Given the description of an element on the screen output the (x, y) to click on. 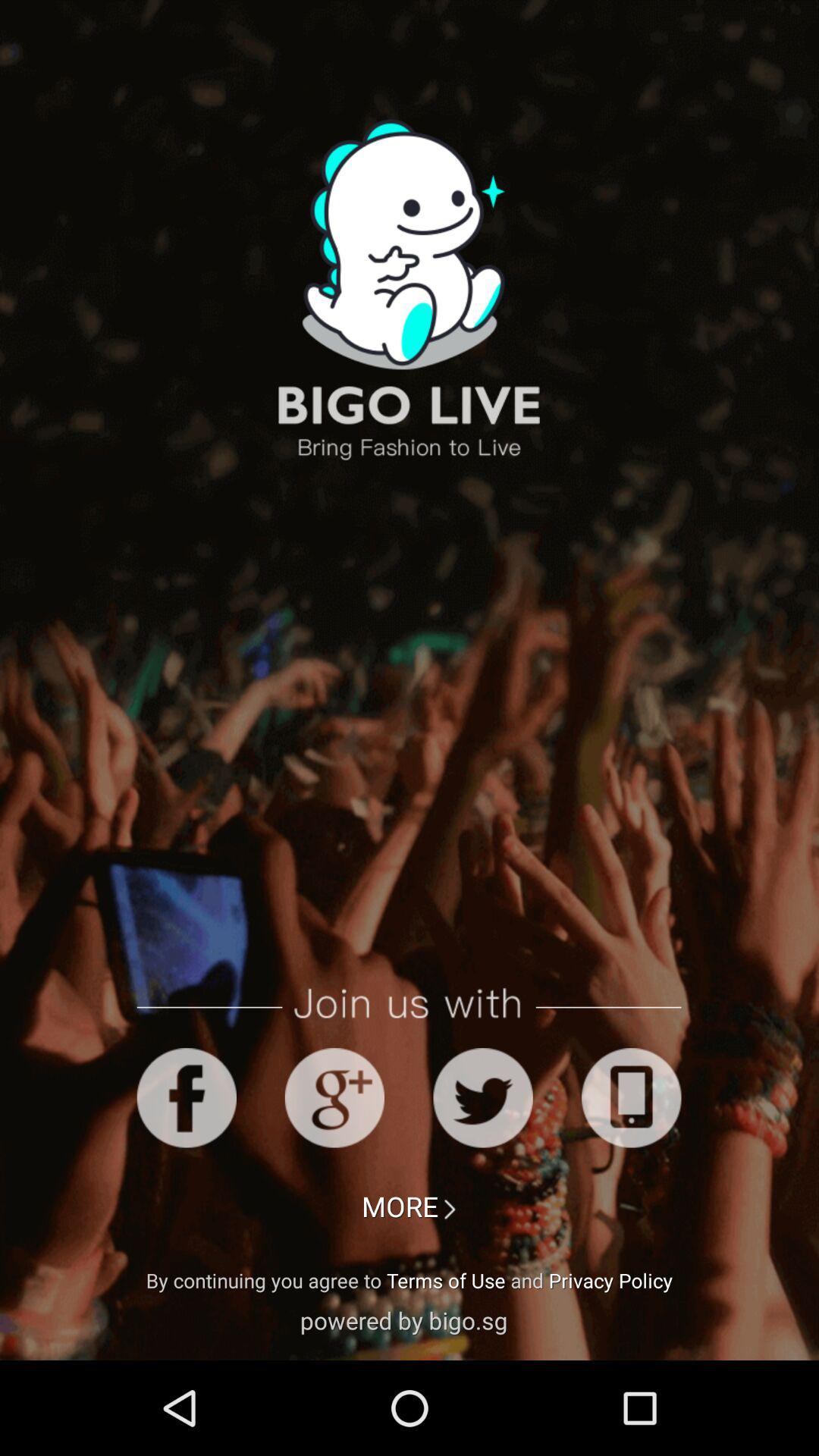
twitter (482, 1097)
